Given the description of an element on the screen output the (x, y) to click on. 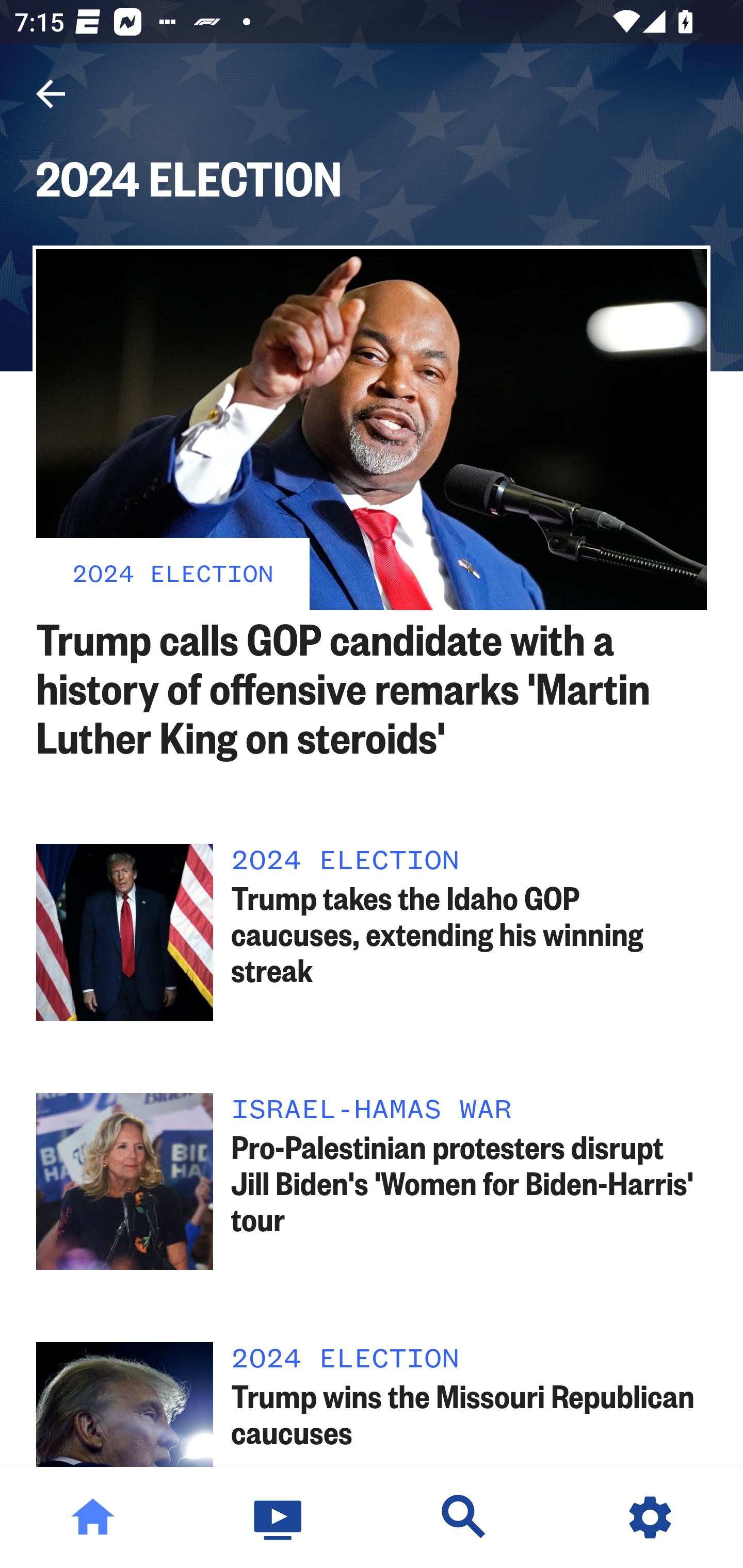
Navigate up (50, 93)
Watch (278, 1517)
Discover (464, 1517)
Settings (650, 1517)
